Given the description of an element on the screen output the (x, y) to click on. 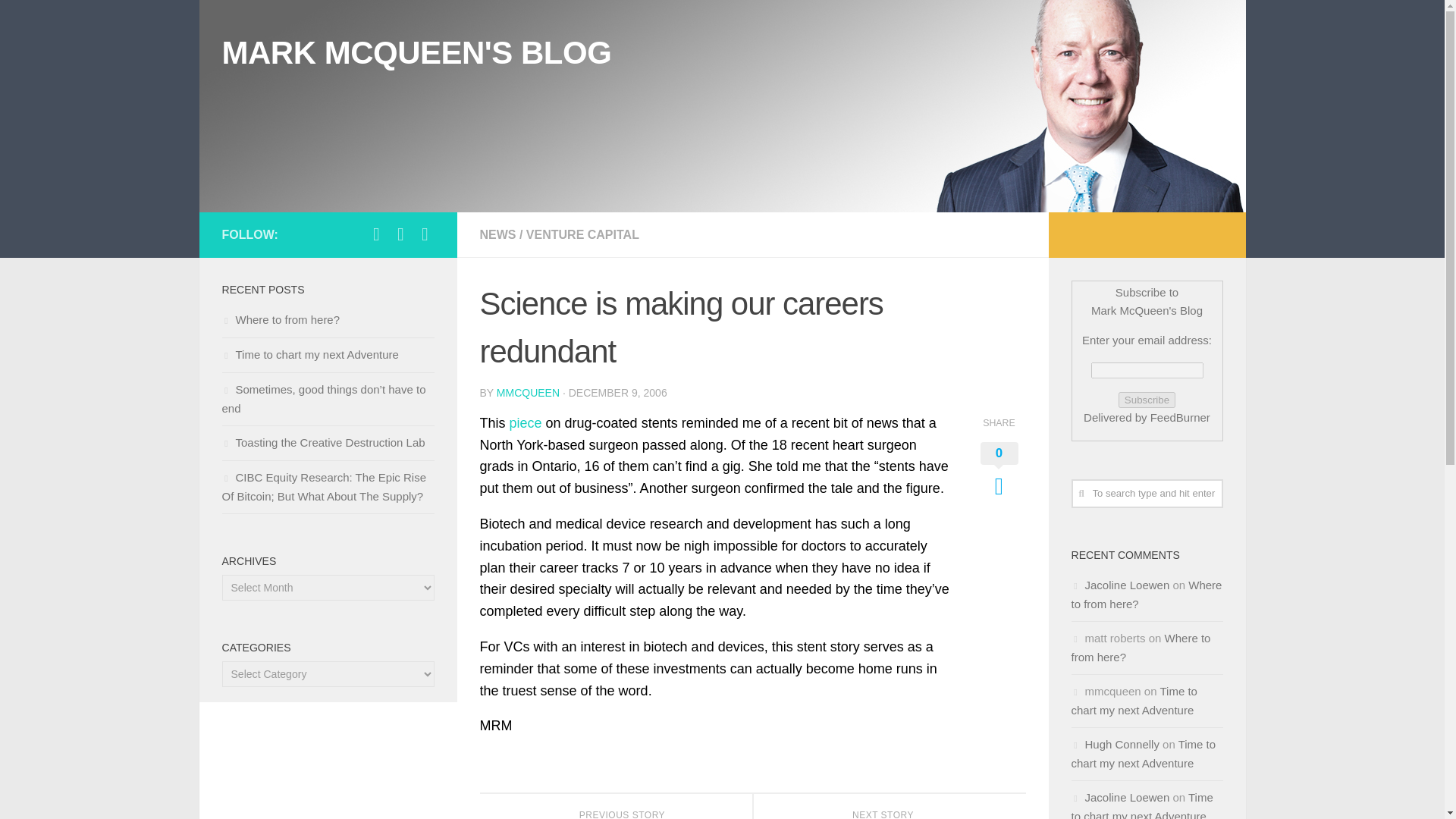
Jacoline Loewen (1126, 797)
Time to chart my next Adventure (1133, 700)
Subscribe to MARK MCQUEEN'S BLOG (423, 234)
Toasting the Creative Destruction Lab (323, 441)
MARK MCQUEEN'S BLOG (416, 53)
MMCQUEEN (527, 392)
Jacoline Loewen (1126, 584)
Add Mark McQueen on Linkedin (888, 806)
Where to from here? (400, 234)
piece (280, 318)
VENTURE CAPITAL (525, 422)
Subscribe (582, 234)
Where to from here? (1146, 399)
Hugh Connelly (1139, 647)
